Given the description of an element on the screen output the (x, y) to click on. 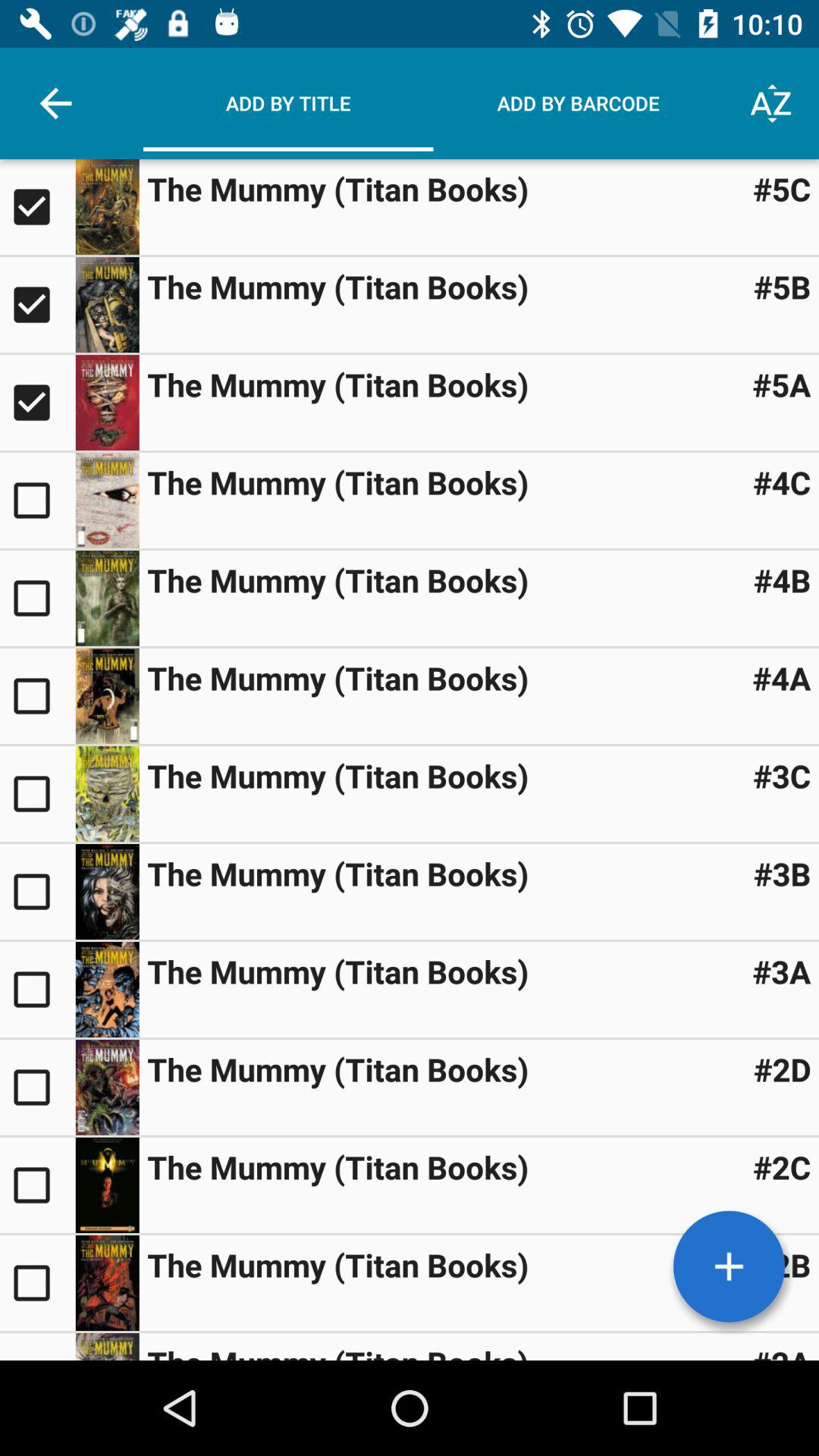
select the option (37, 598)
